Given the description of an element on the screen output the (x, y) to click on. 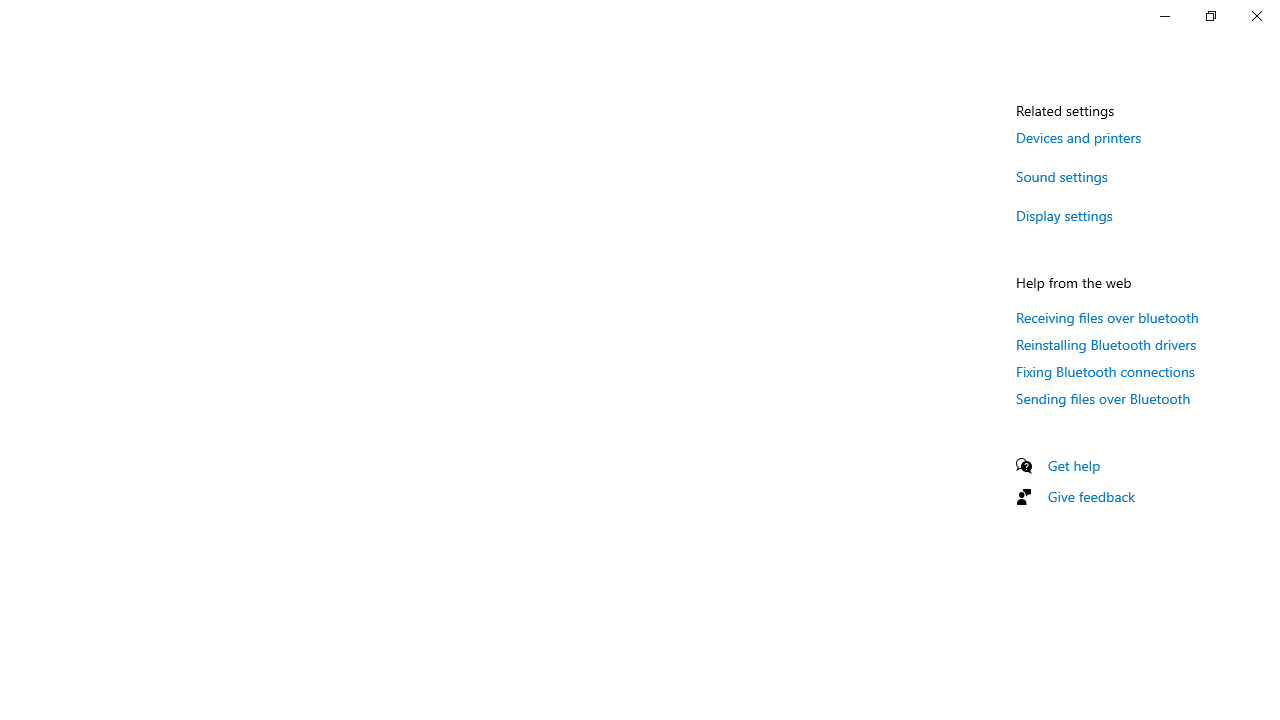
Close Settings (1256, 15)
Devices and printers (1078, 137)
Sound settings (1062, 176)
Fixing Bluetooth connections (1105, 371)
Sending files over Bluetooth (1103, 398)
Restore Settings (1210, 15)
Give feedback (1091, 496)
Receiving files over bluetooth (1107, 317)
Reinstalling Bluetooth drivers (1106, 344)
Get help (1074, 465)
Display settings (1064, 214)
Minimize Settings (1164, 15)
